Given the description of an element on the screen output the (x, y) to click on. 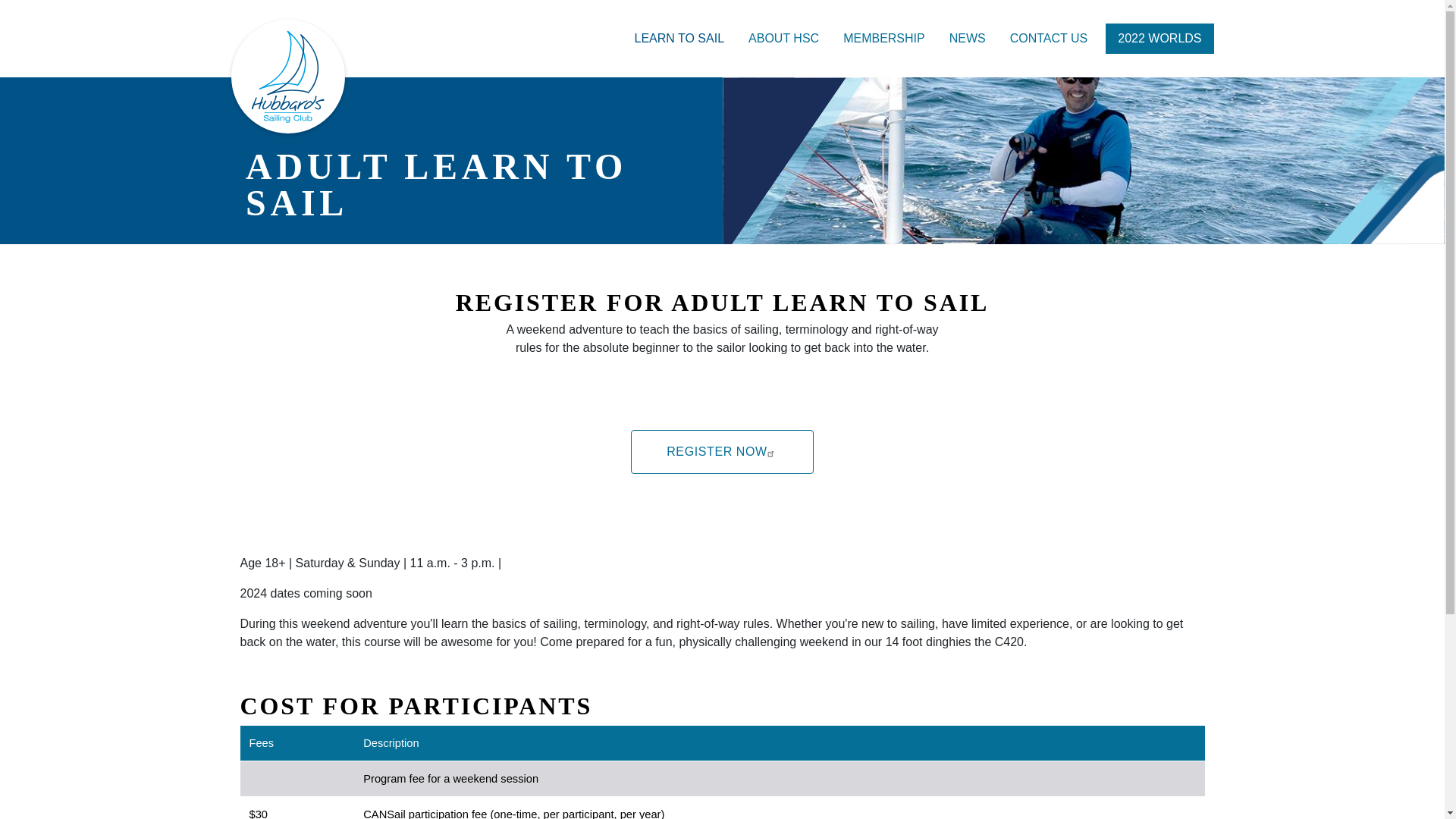
Home (286, 76)
NEWS (967, 38)
CONTACT US (1048, 38)
2022 WORLDS (1158, 38)
MEMBERSHIP (884, 38)
ABOUT HSC (783, 38)
LEARN TO SAIL (678, 38)
